Given the description of an element on the screen output the (x, y) to click on. 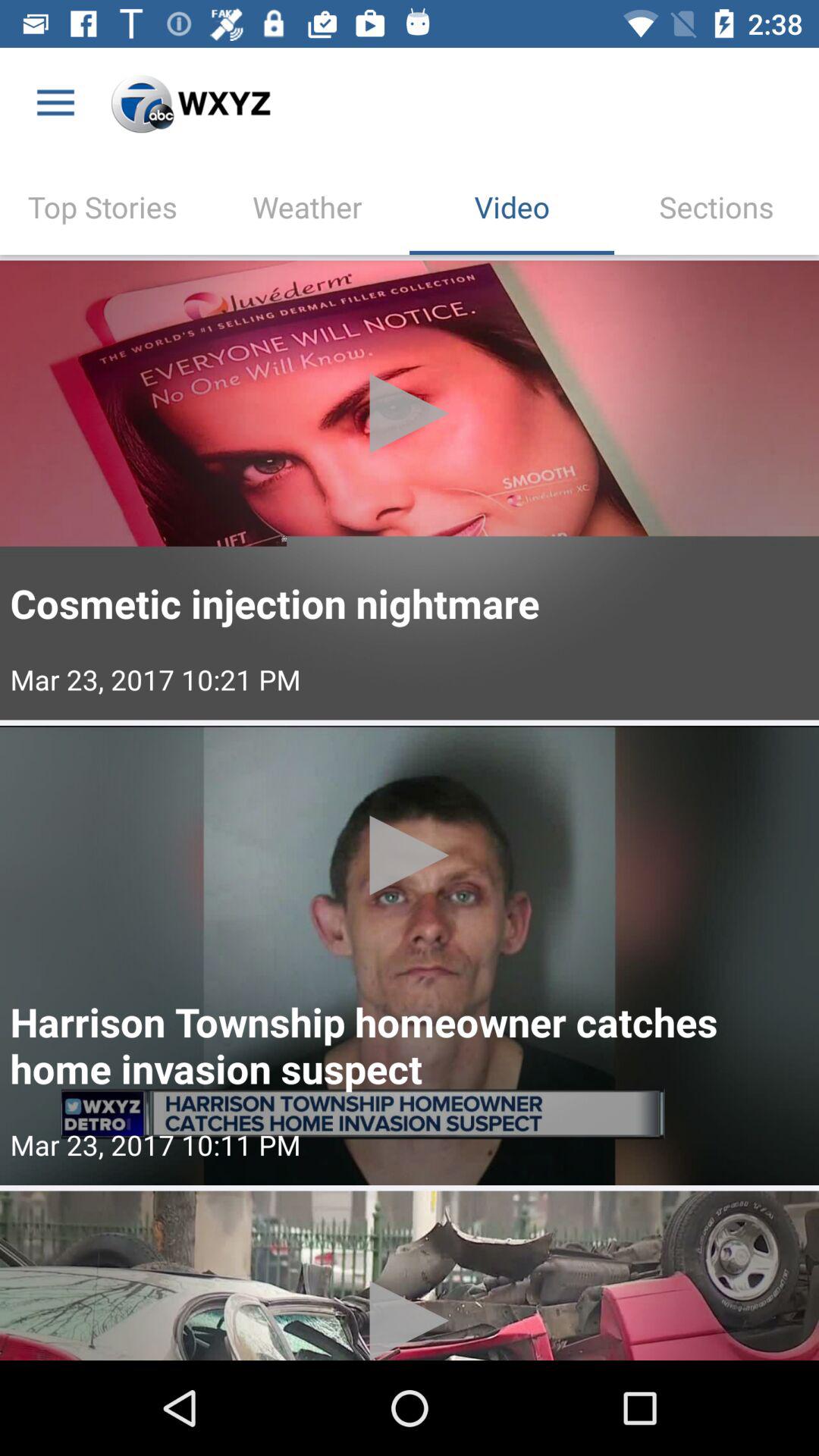
launch the item above top stories (55, 103)
